Given the description of an element on the screen output the (x, y) to click on. 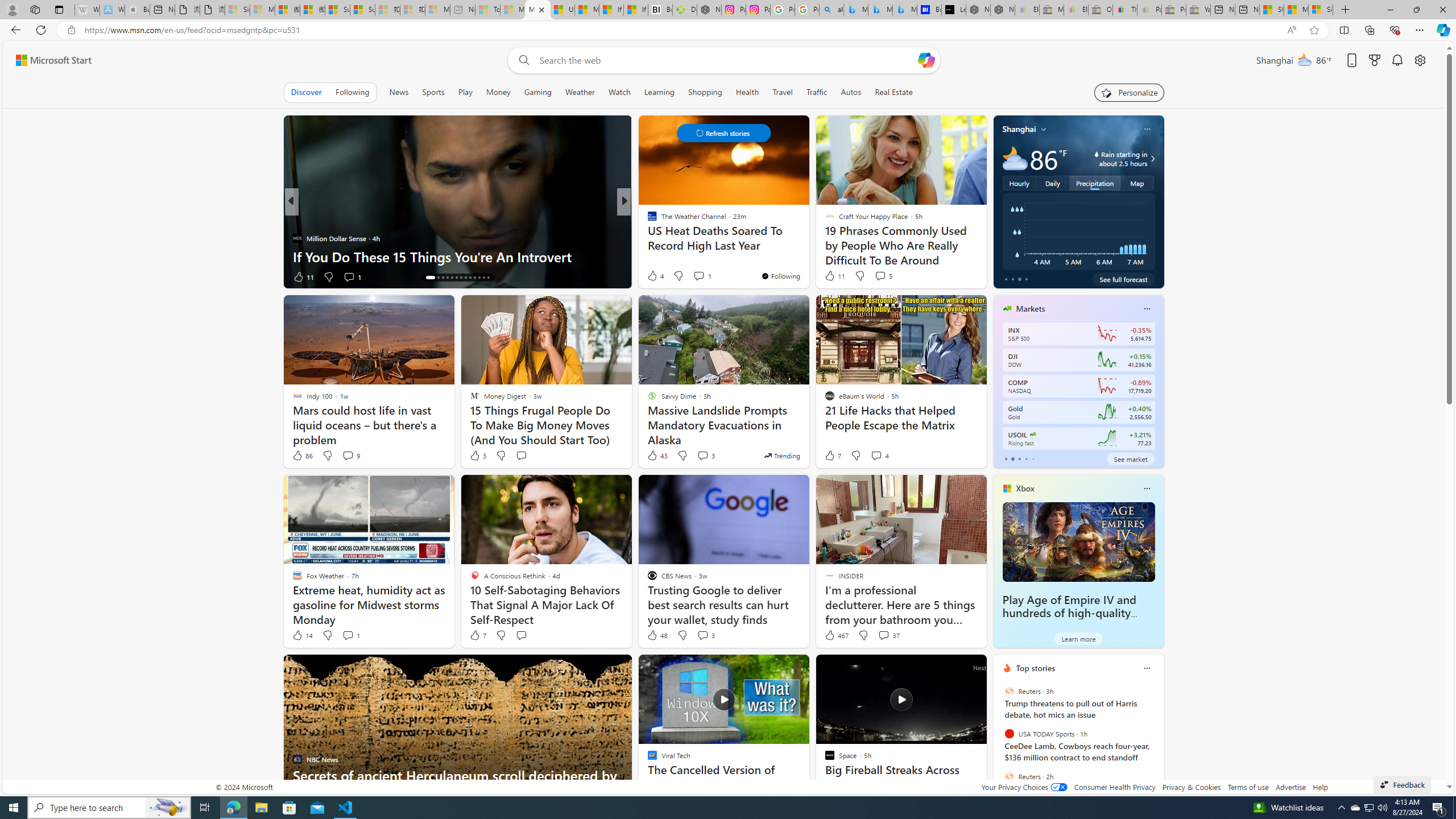
View comments 37 Comment (883, 635)
BBC (647, 219)
Google is a monopoly. The fix isn't obvious (807, 256)
Daily (1052, 183)
AutomationID: tab-25 (483, 277)
AutomationID: tab-19 (456, 277)
13 Like (652, 276)
tab-3 (1025, 458)
